Given the description of an element on the screen output the (x, y) to click on. 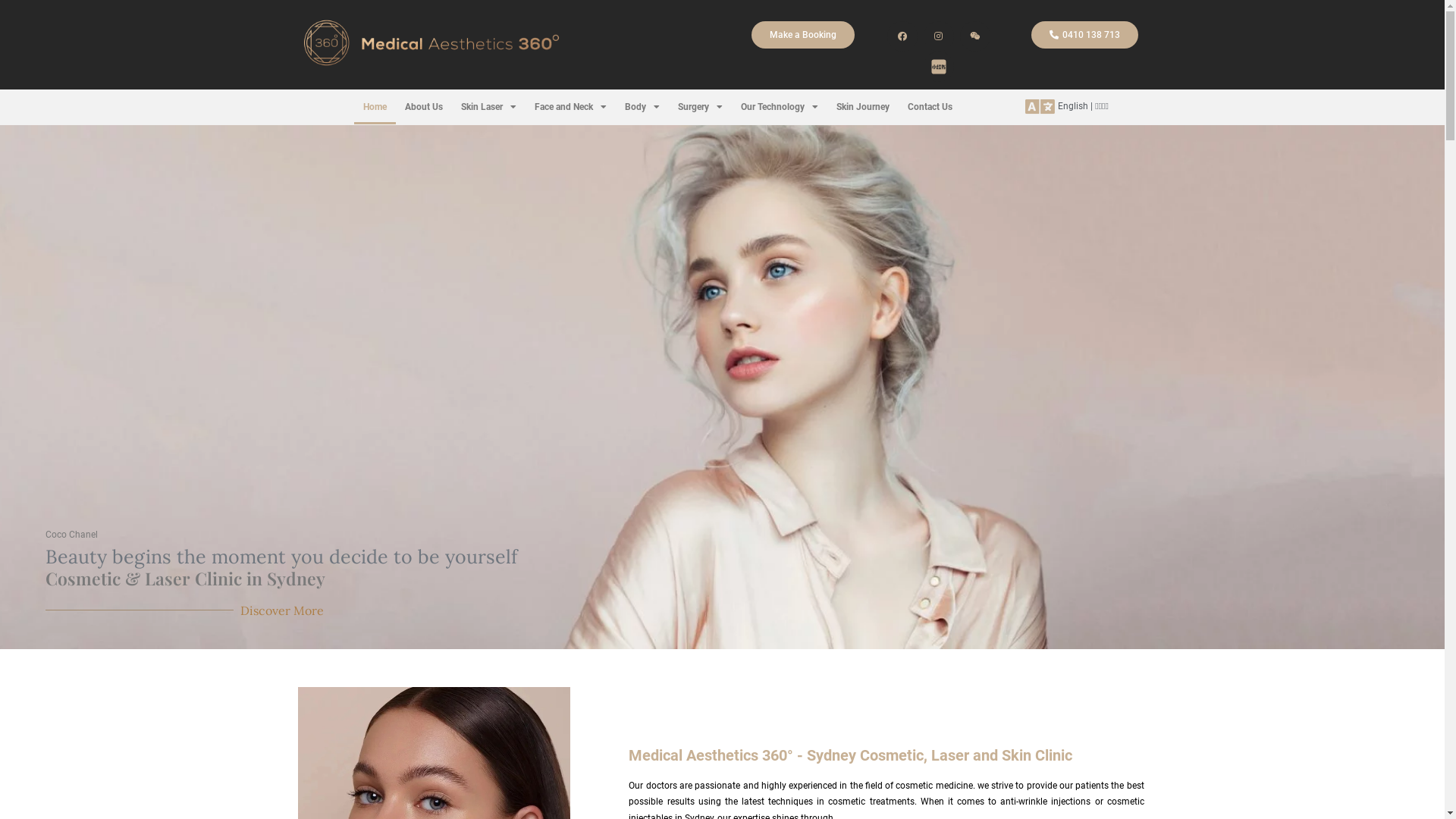
Our Technology Element type: text (778, 106)
Home Element type: text (374, 106)
0410 138 713 Element type: text (1084, 34)
Surgery Element type: text (699, 106)
About Us Element type: text (423, 106)
Skin Journey Element type: text (861, 106)
Contact Us Element type: text (928, 106)
Skin Laser Element type: text (488, 106)
Body Element type: text (641, 106)
Face and Neck Element type: text (569, 106)
Make a Booking Element type: text (802, 34)
